Given the description of an element on the screen output the (x, y) to click on. 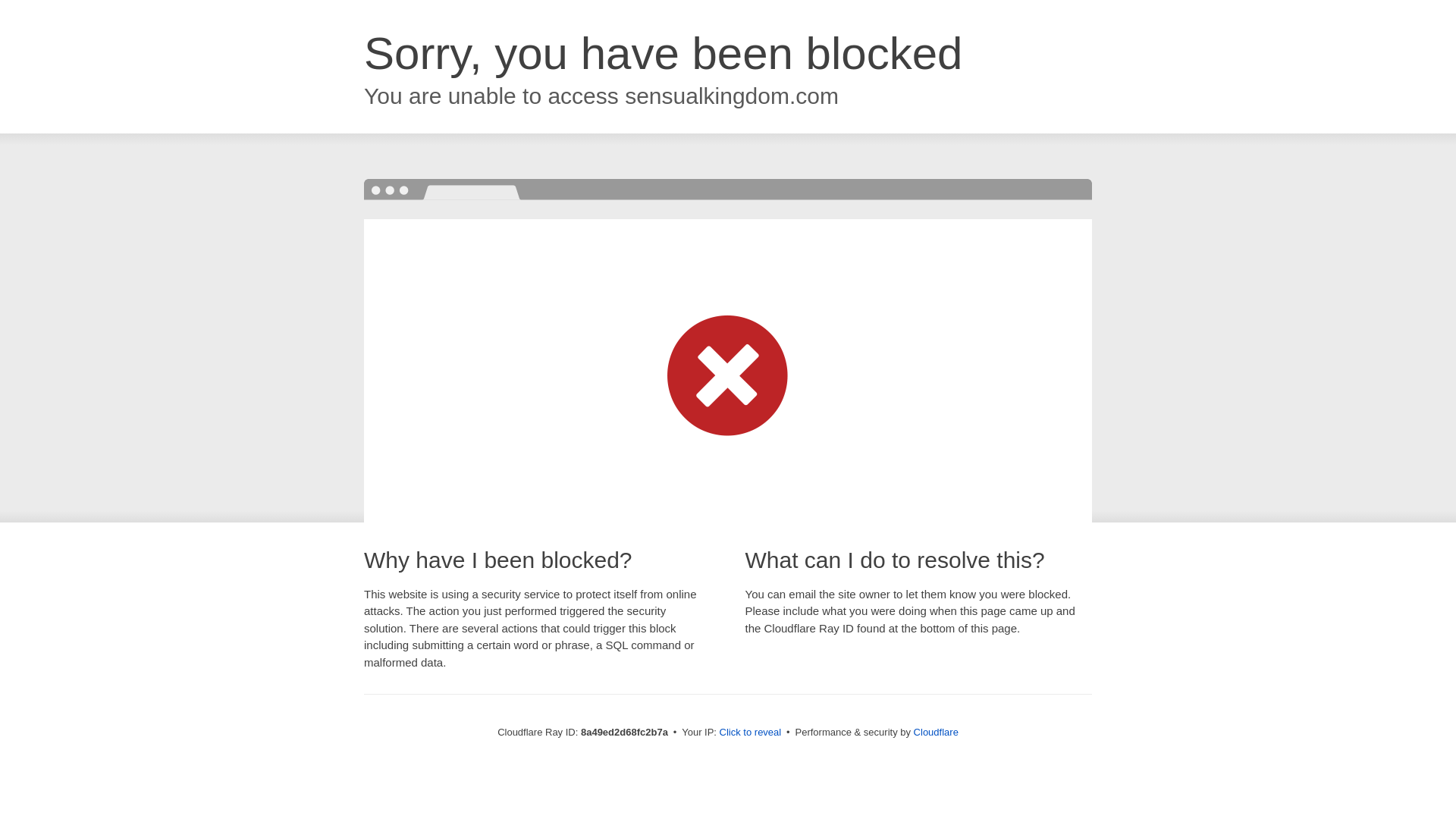
Click to reveal (750, 732)
Cloudflare (936, 731)
